Given the description of an element on the screen output the (x, y) to click on. 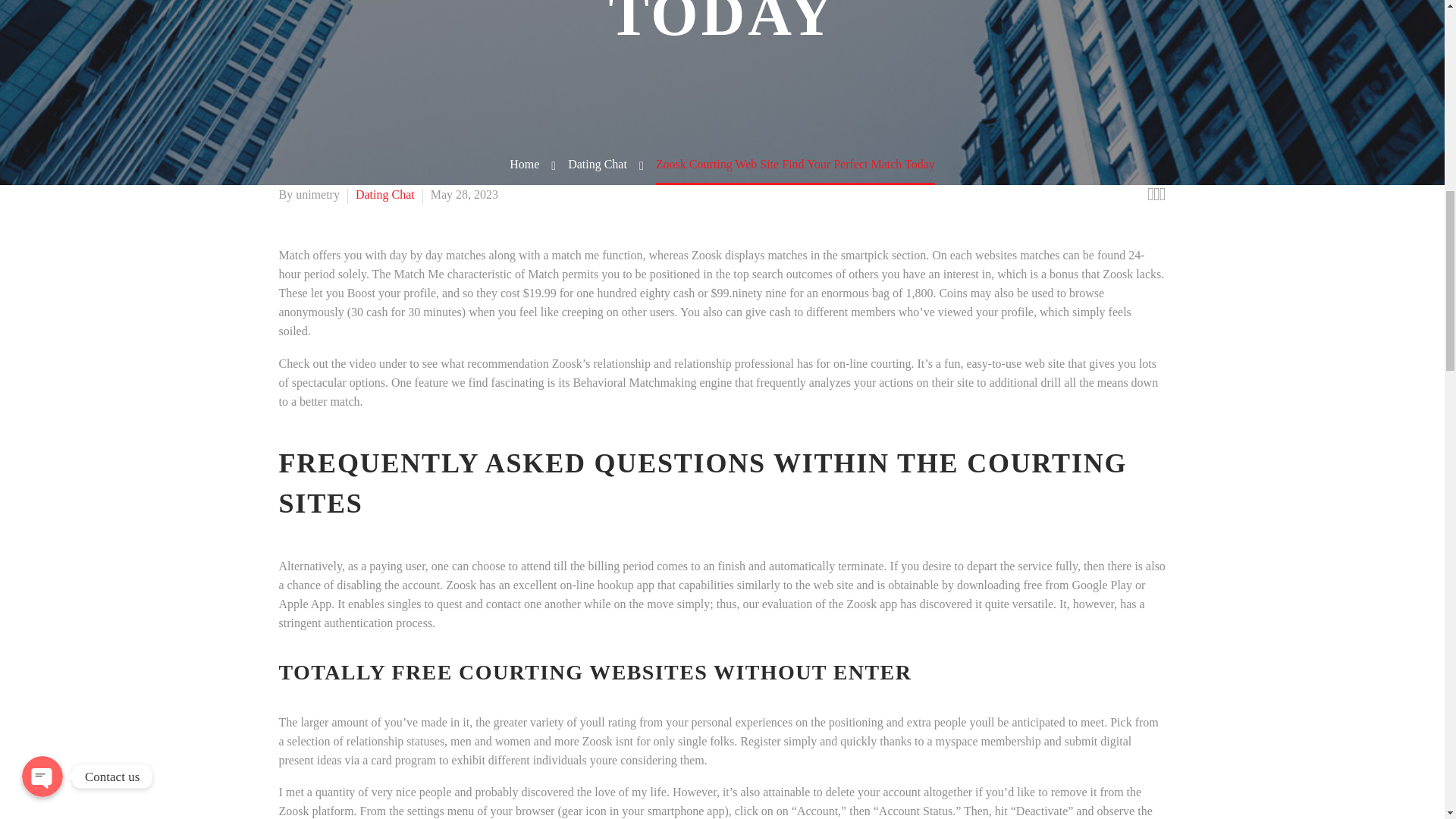
Dating Chat (384, 194)
Next post (1162, 193)
Previous post (1150, 193)
View all posts in Dating Chat (384, 194)
Dating Chat (597, 164)
Home (523, 164)
